Given the description of an element on the screen output the (x, y) to click on. 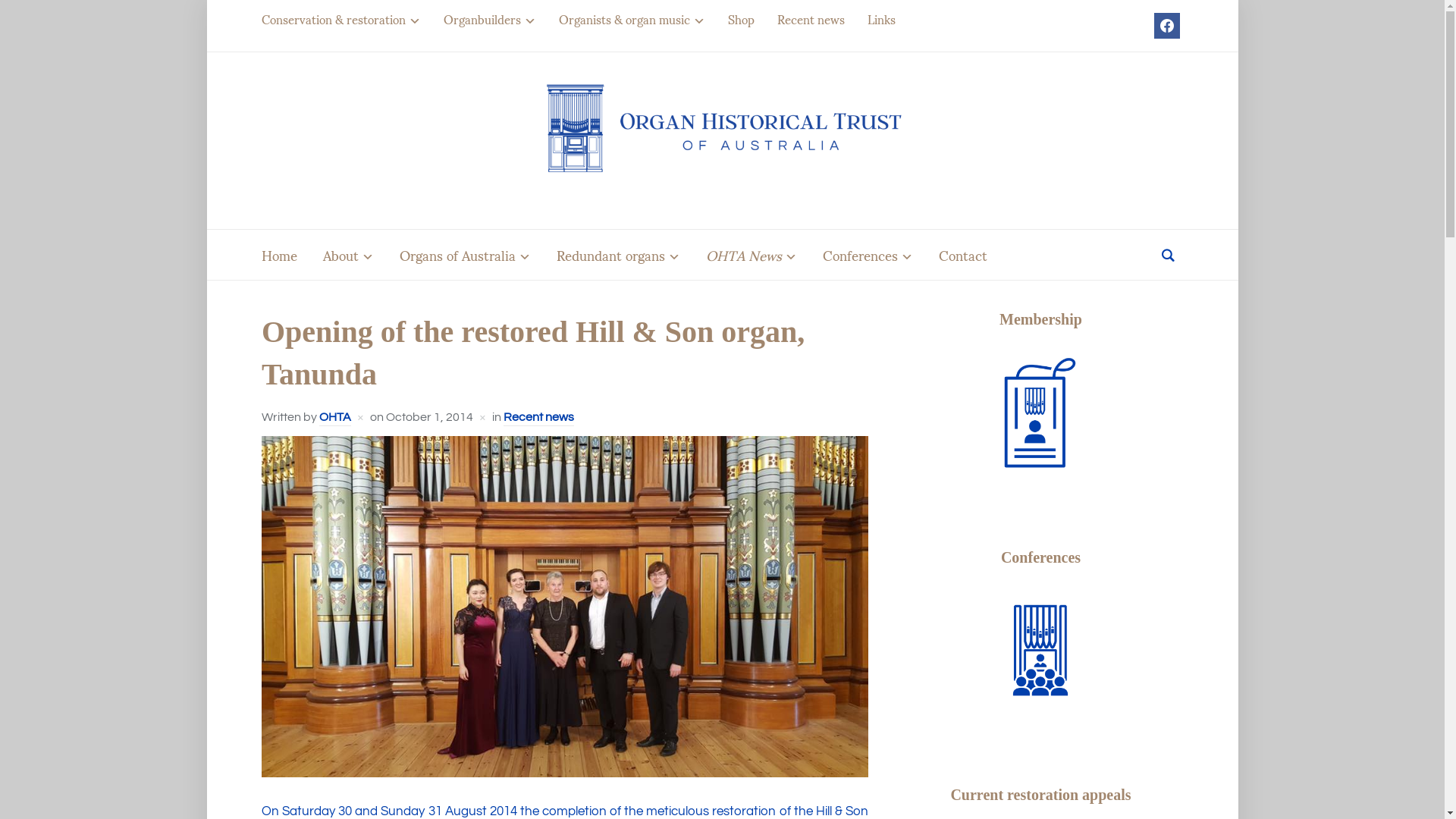
Search Element type: text (1167, 255)
OHTA Element type: text (335, 418)
Redundant organs Element type: text (618, 255)
Organs of Australia Element type: text (464, 255)
facebook Element type: text (1166, 24)
Conferences Element type: text (867, 255)
Recent news Element type: text (810, 18)
Organbuilders Element type: text (489, 18)
Links Element type: text (881, 18)
OHTA News Element type: text (751, 255)
Home Element type: text (279, 255)
Conservation & restoration Element type: text (340, 18)
Recent news Element type: text (538, 418)
Organists & organ music Element type: text (631, 18)
About Element type: text (348, 255)
Contact Element type: text (962, 255)
Shop Element type: text (741, 18)
